Given the description of an element on the screen output the (x, y) to click on. 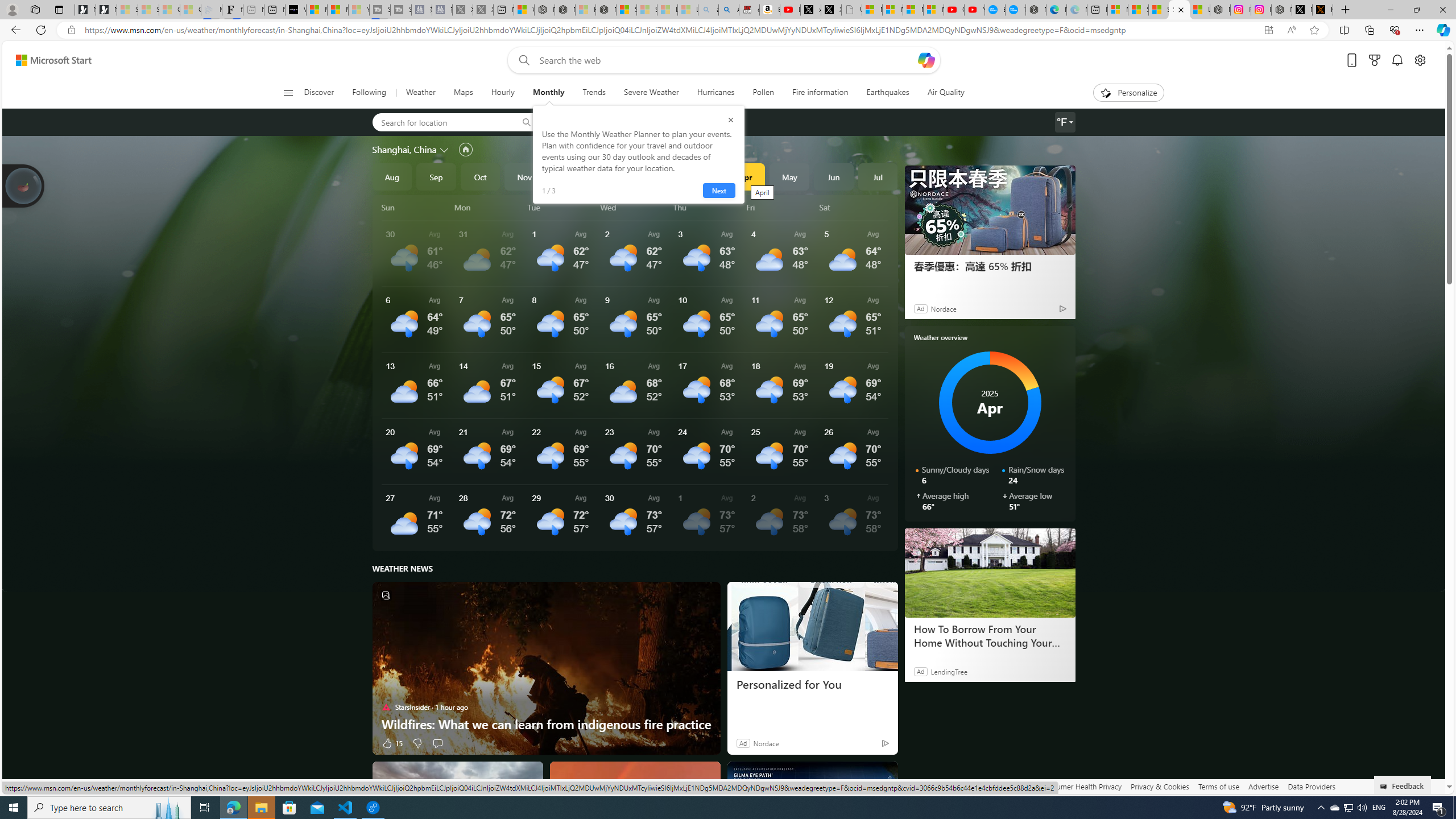
Tue (561, 207)
Skip to footer (46, 59)
Pollen (763, 92)
Wildfires: What we can learn from indigenous fire practice (546, 723)
Change location (445, 149)
Microsoft Start (53, 60)
How To Borrow From Your Home Without Touching Your Mortgage (988, 635)
Hurricanes (716, 92)
How To Borrow From Your Home Without Touching Your Mortgage (989, 572)
Feedback (1402, 784)
